Given the description of an element on the screen output the (x, y) to click on. 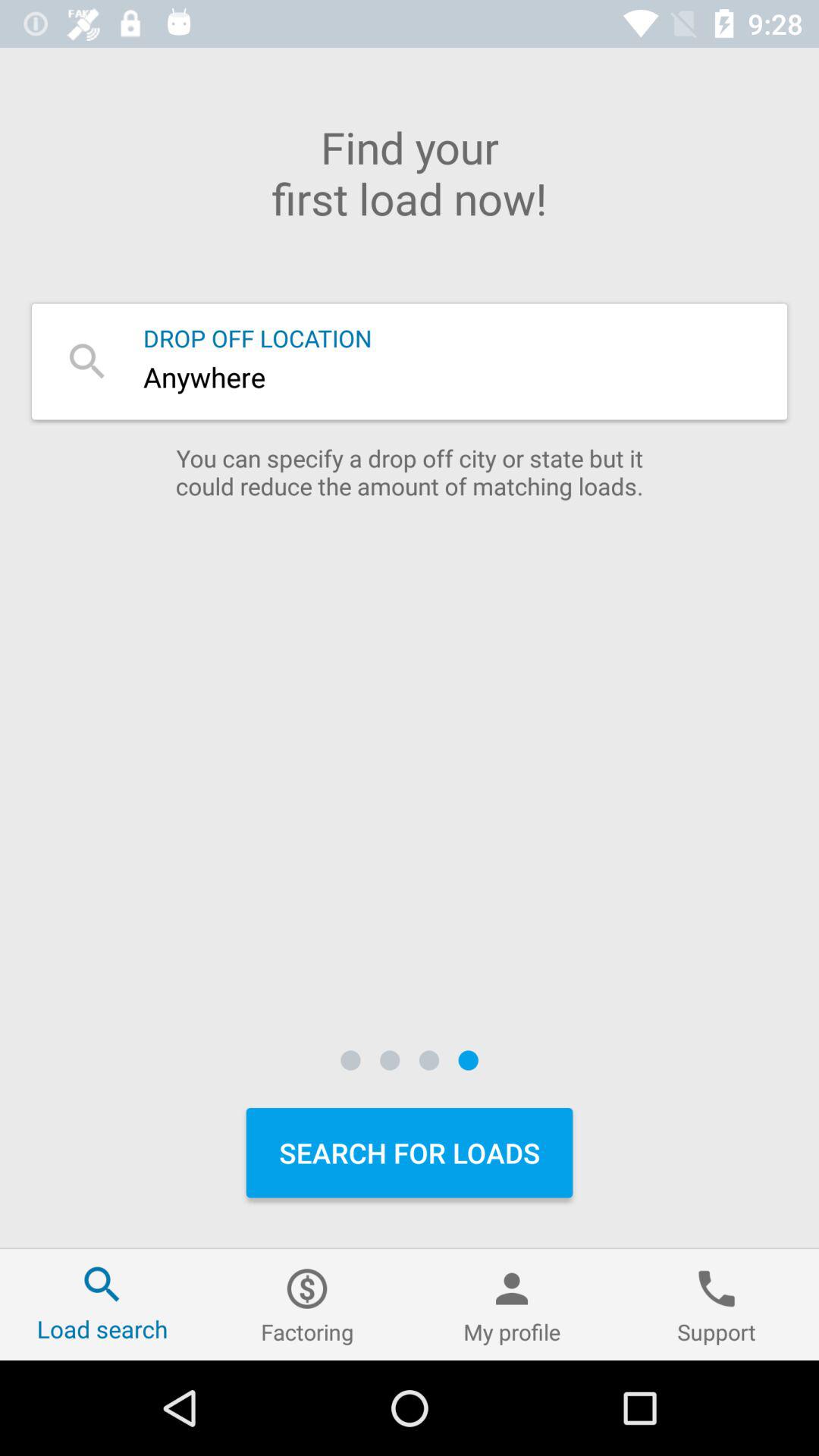
tap the item at the bottom left corner (102, 1304)
